Given the description of an element on the screen output the (x, y) to click on. 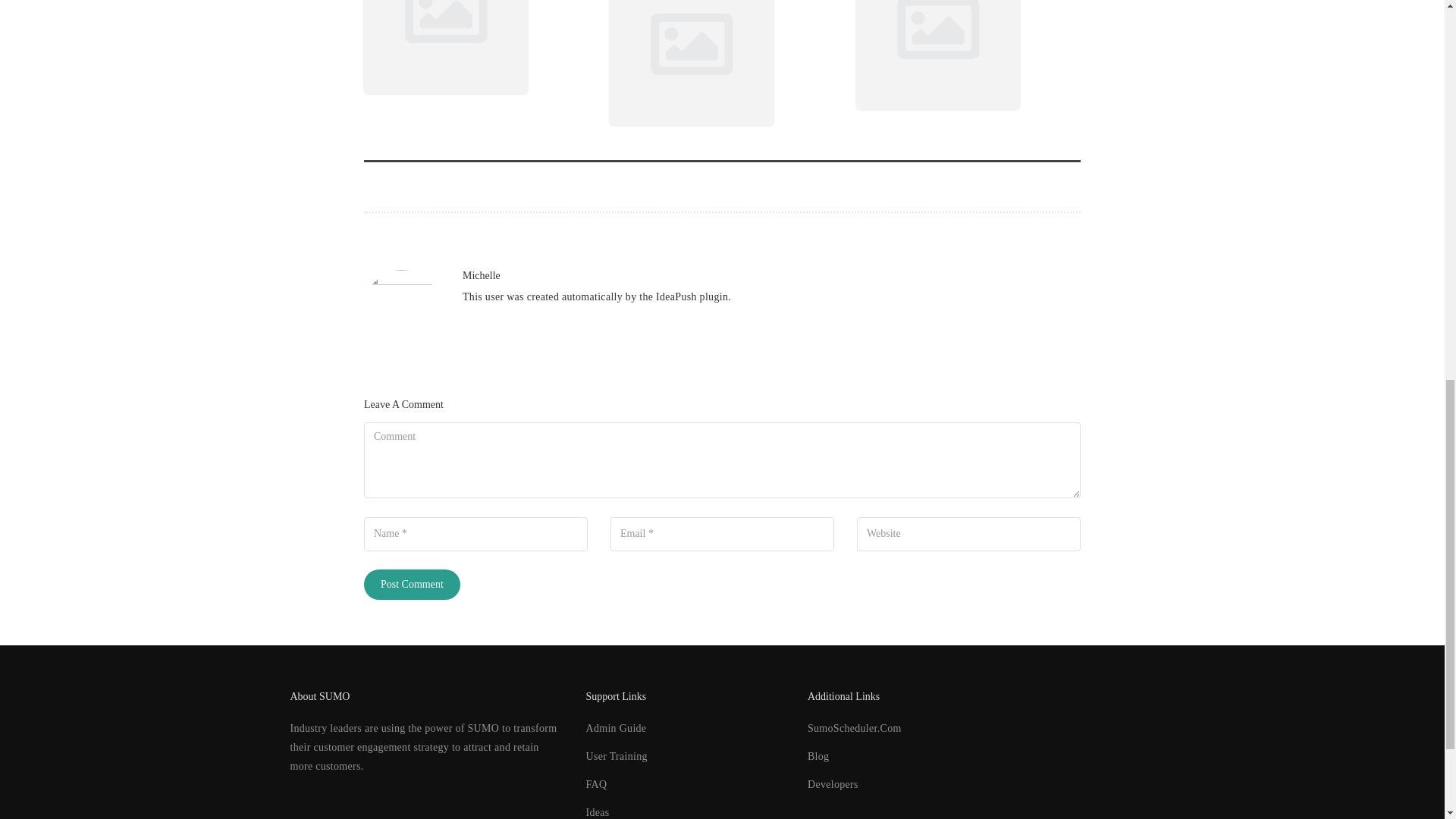
User Training (615, 756)
Michelle (481, 275)
Admin Guide (615, 727)
Post Comment (412, 584)
FAQ (596, 784)
Ideas (596, 812)
Blog (818, 756)
Post Comment (412, 584)
SumoScheduler.Com (854, 727)
